Given the description of an element on the screen output the (x, y) to click on. 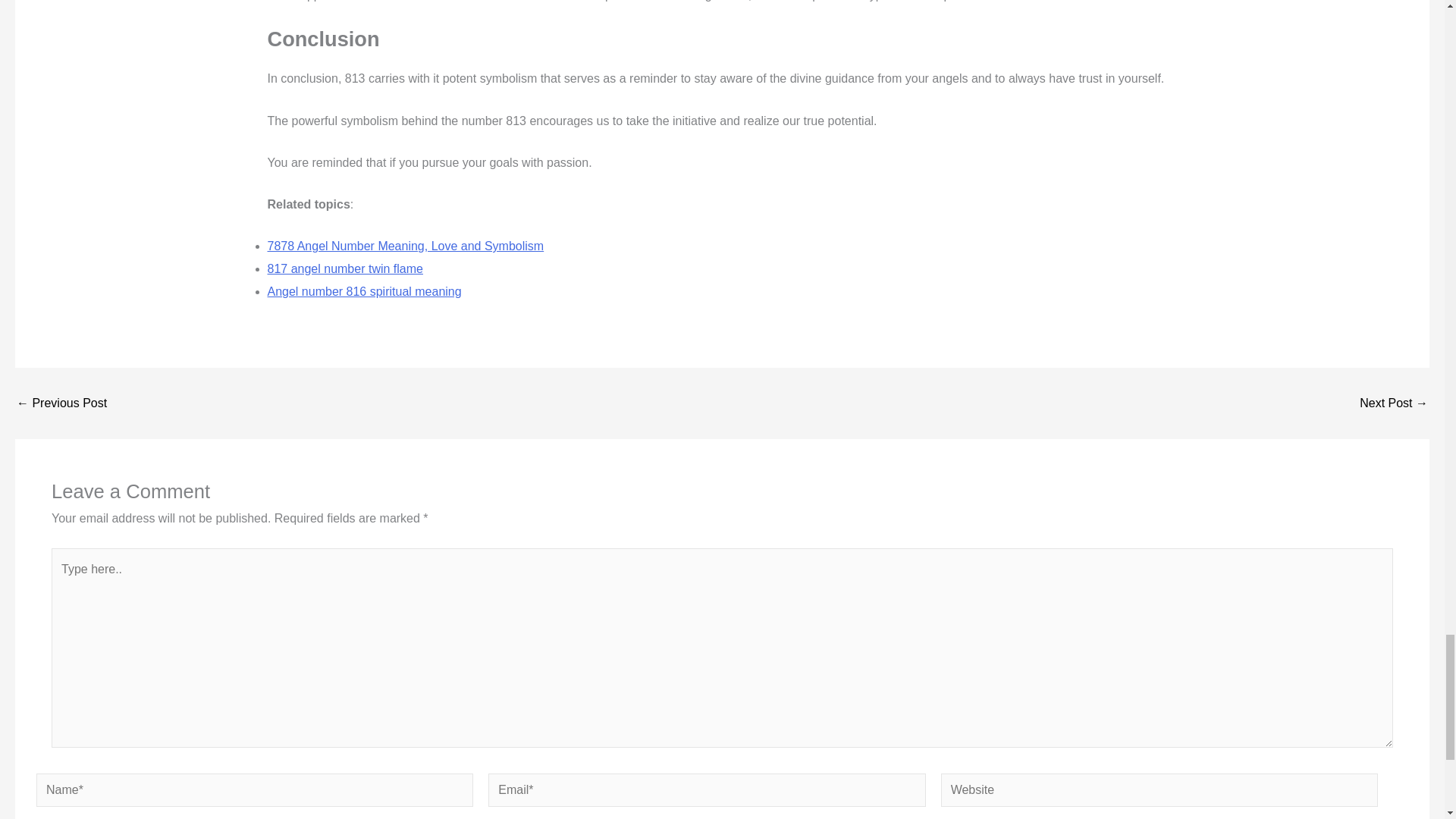
7878 Angel Number Meaning, Love and Symbolism (404, 245)
9191 Angel Number Meaning and Symbolism (1393, 403)
916 Angel Number Meaning and Symbolism (61, 403)
Angel number 816 spiritual meaning (363, 291)
817 angel number twin flame (344, 268)
